Given the description of an element on the screen output the (x, y) to click on. 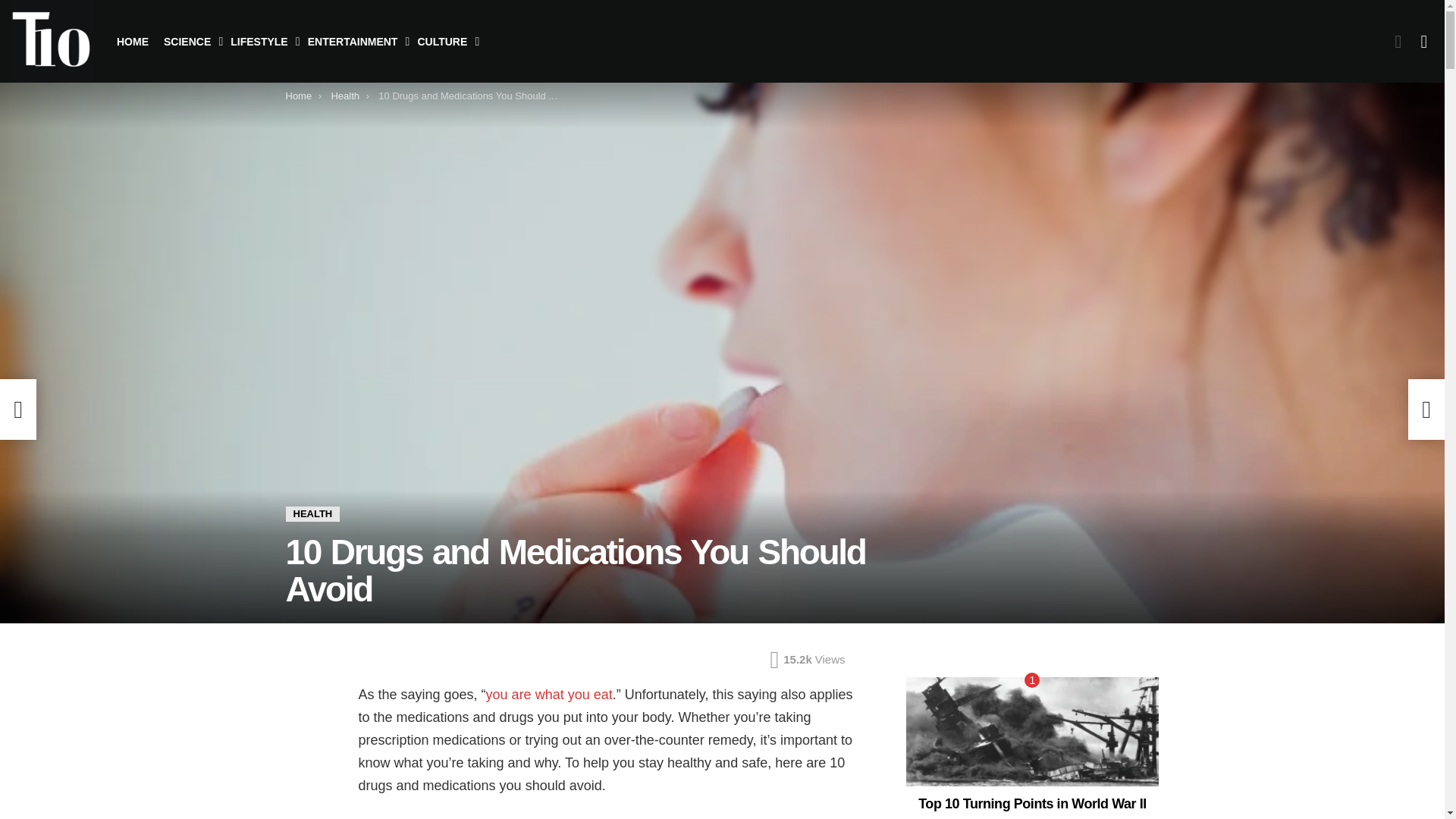
HEALTH (312, 513)
you are what you eat (549, 694)
Home (298, 95)
HOME (132, 41)
CULTURE (444, 41)
LIFESTYLE (260, 41)
Health (344, 95)
SCIENCE (188, 41)
ENTERTAINMENT (354, 41)
